Given the description of an element on the screen output the (x, y) to click on. 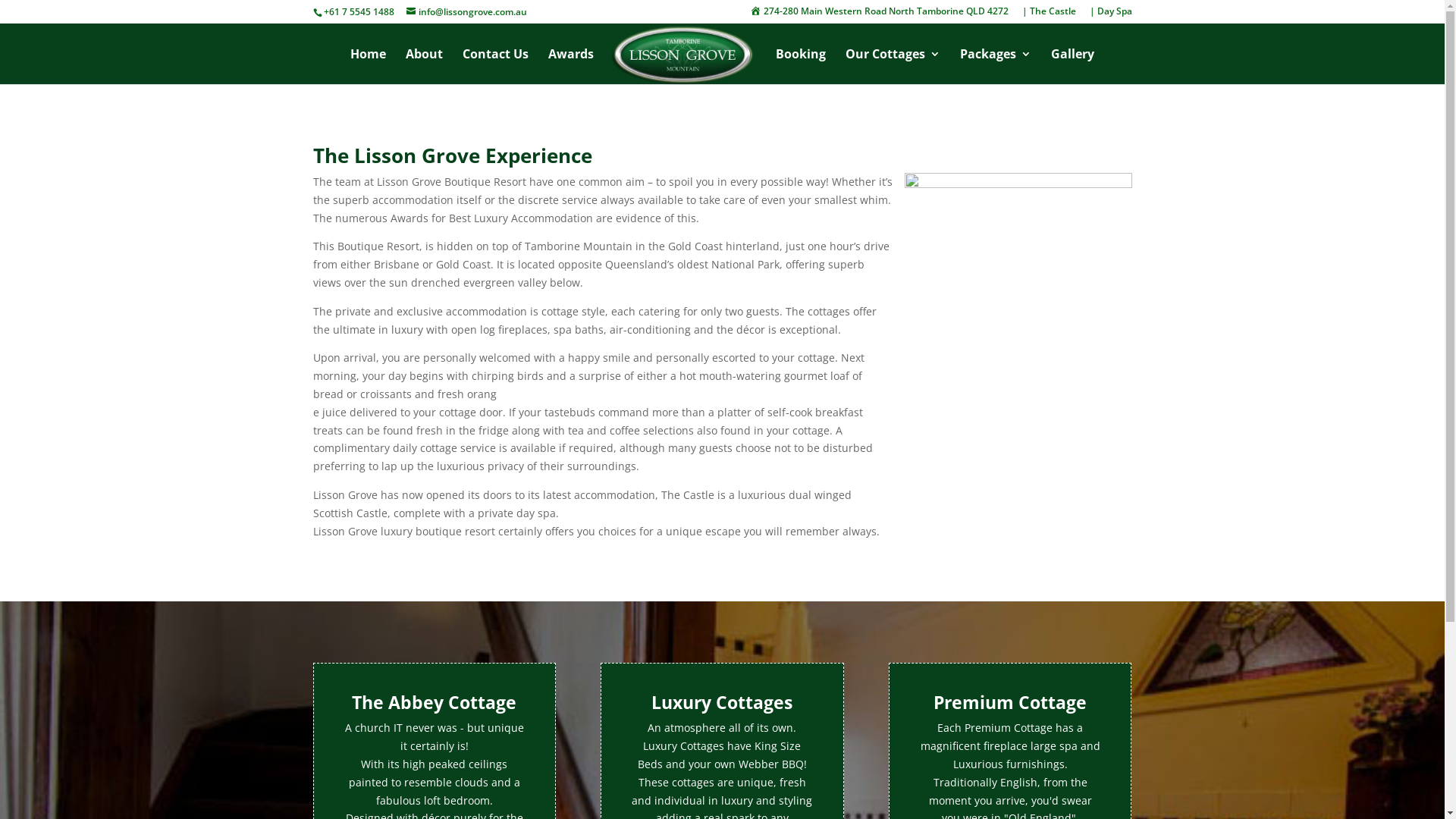
info@lissongrove.com.au Element type: text (466, 11)
About Element type: text (423, 66)
Booking Element type: text (800, 66)
| The Castle Element type: text (1049, 14)
274-280 Main Western Road North Tamborine QLD 4272 Element type: text (878, 14)
Gallery Element type: text (1072, 66)
Our Cottages Element type: text (892, 66)
Awards Element type: text (570, 66)
Home Element type: text (367, 66)
| Day Spa Element type: text (1109, 14)
Packages Element type: text (995, 66)
Contact Us Element type: text (495, 66)
